Given the description of an element on the screen output the (x, y) to click on. 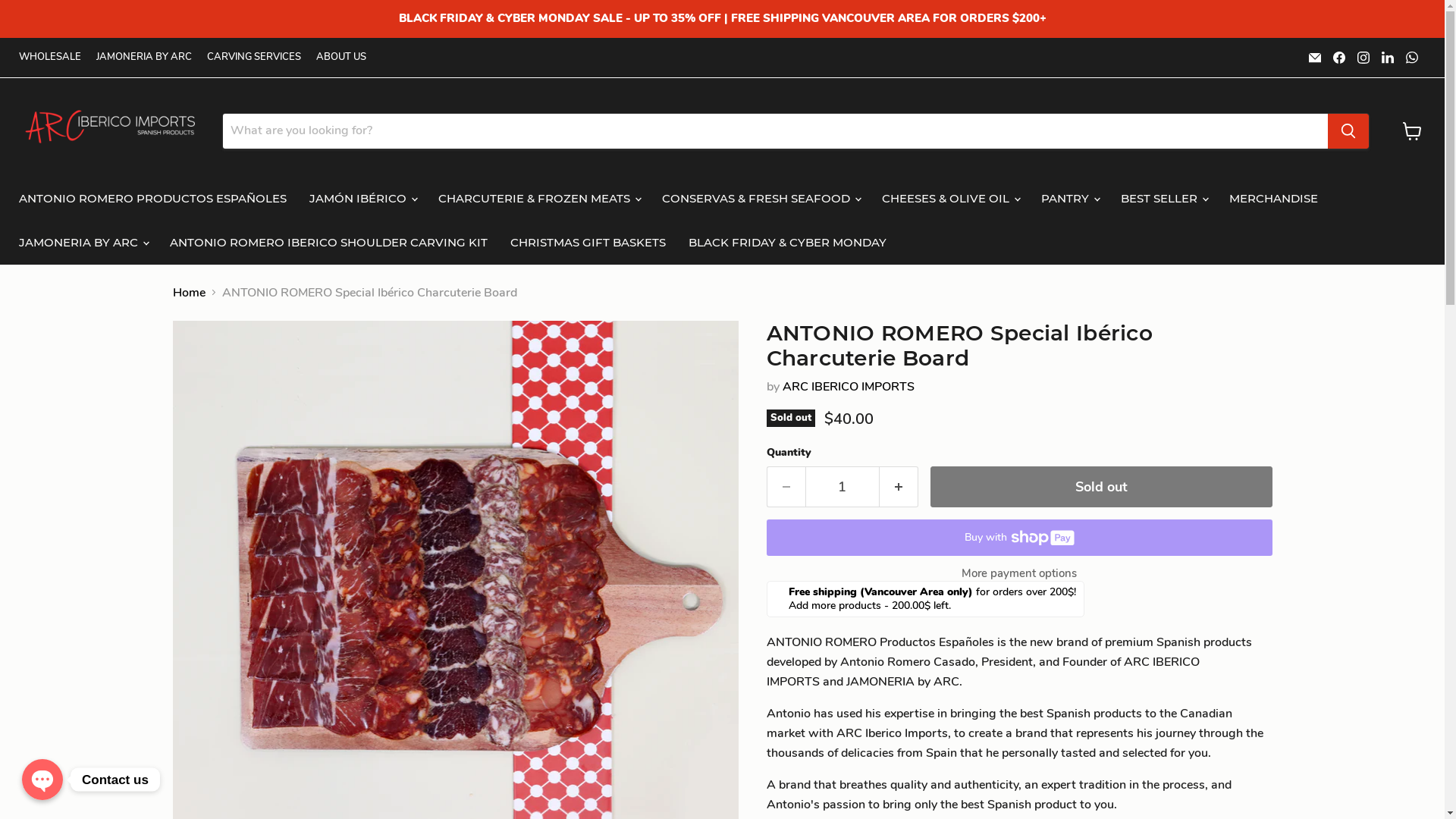
JAMONERIA BY ARC Element type: text (143, 56)
Find us on Instagram Element type: text (1363, 57)
More payment options Element type: text (1018, 573)
CHRISTMAS GIFT BASKETS Element type: text (587, 241)
Find us on LinkedIn Element type: text (1387, 57)
Find us on WhatsApp Element type: text (1411, 57)
ABOUT US Element type: text (341, 56)
Find us on Facebook Element type: text (1338, 57)
Home Element type: text (188, 291)
ARC IBERICO IMPORTS Element type: text (848, 386)
ANTONIO ROMERO IBERICO SHOULDER CARVING KIT Element type: text (328, 241)
CARVING SERVICES Element type: text (254, 56)
BLACK FRIDAY & CYBER MONDAY Element type: text (787, 241)
Email ARC IBERICO IMPORTS Element type: text (1314, 57)
MERCHANDISE Element type: text (1273, 197)
View cart Element type: text (1412, 130)
Sold out Element type: text (1100, 487)
WHOLESALE Element type: text (49, 56)
